Given the description of an element on the screen output the (x, y) to click on. 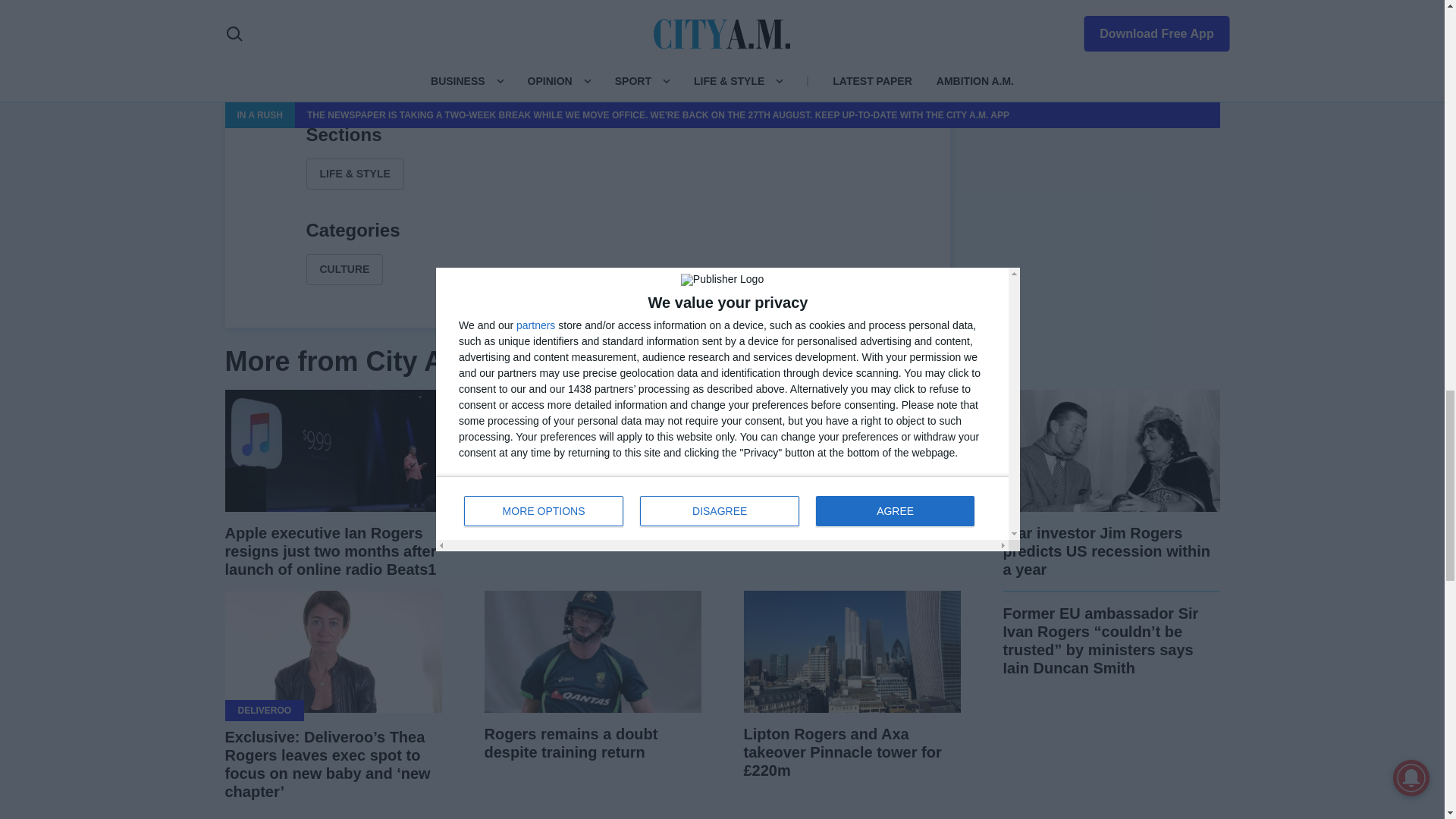
WhatsApp (622, 85)
Facebook (513, 85)
LinkedIn (586, 85)
Email (659, 85)
X (550, 85)
